Given the description of an element on the screen output the (x, y) to click on. 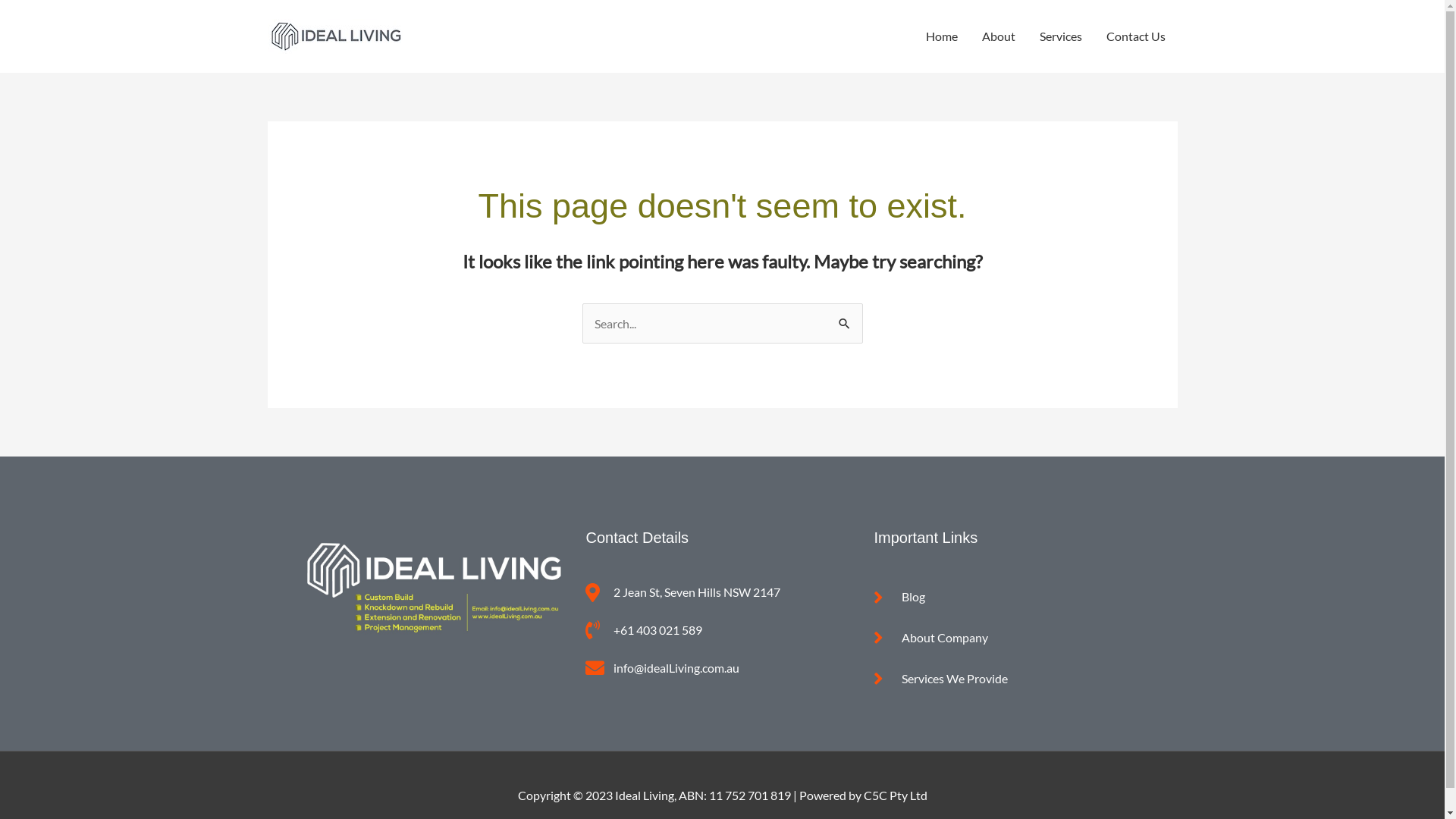
Contact Us Element type: text (1134, 36)
About Company Element type: text (1009, 637)
Search Element type: text (845, 319)
C5C Pty Ltd Element type: text (894, 794)
About Element type: text (997, 36)
Home Element type: text (941, 36)
Services We Provide Element type: text (1009, 678)
Services Element type: text (1059, 36)
Blog Element type: text (1009, 596)
